Given the description of an element on the screen output the (x, y) to click on. 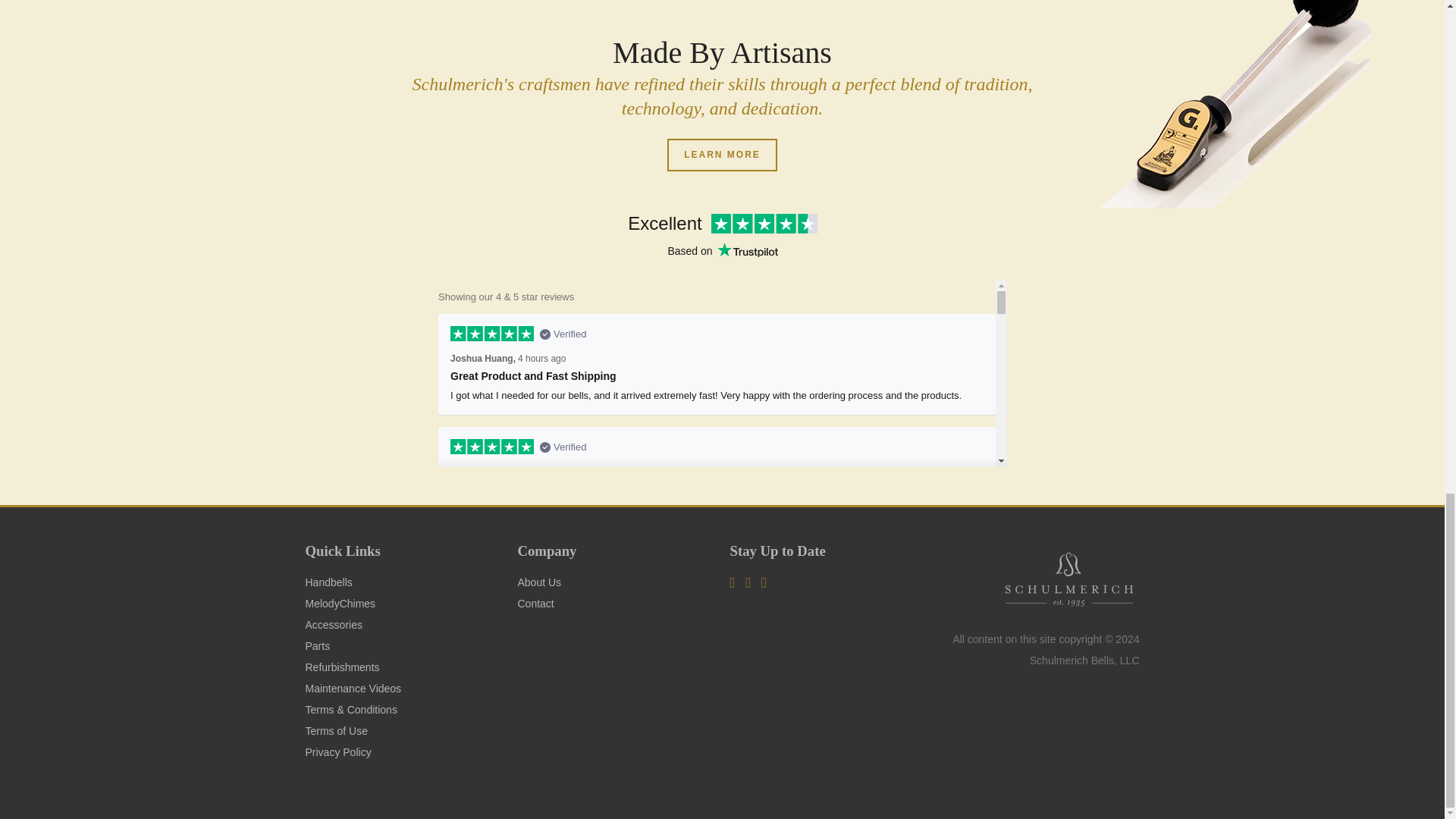
Maintenance Videos (352, 688)
Refurbishments (341, 666)
LEARN MORE (721, 154)
Handbells (328, 582)
Accessories (332, 624)
MelodyChimes (339, 603)
About Us (538, 582)
Contact (534, 603)
Terms of Use (335, 730)
Parts (317, 645)
Privacy Policy (337, 752)
